Given the description of an element on the screen output the (x, y) to click on. 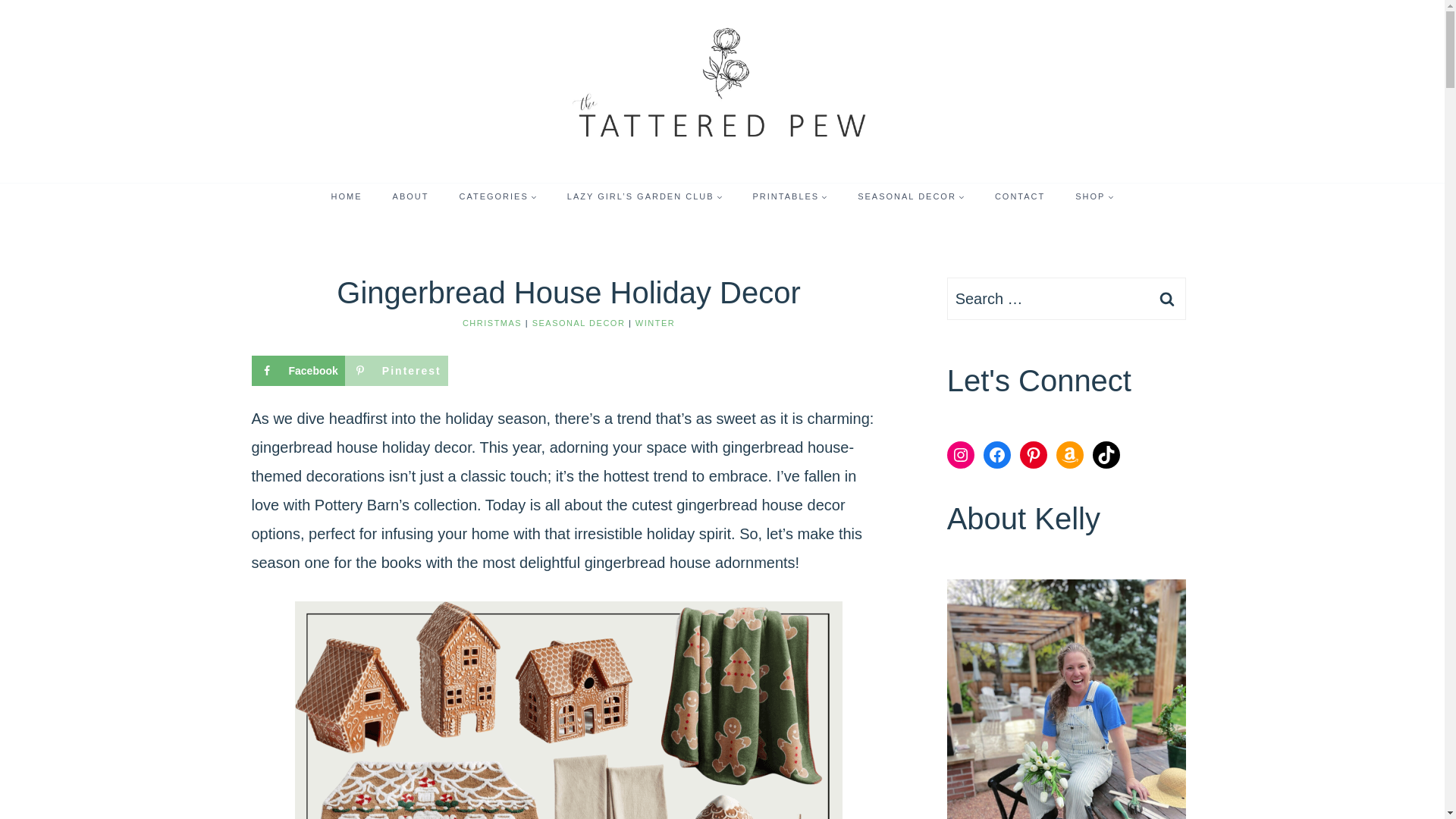
SEASONAL DECOR (579, 322)
Search (1167, 298)
CATEGORIES (497, 196)
CONTACT (1019, 196)
Share on Facebook (298, 370)
PRINTABLES (790, 196)
ABOUT (410, 196)
CHRISTMAS (492, 322)
SEASONAL DECOR (911, 196)
Search (1167, 298)
